Given the description of an element on the screen output the (x, y) to click on. 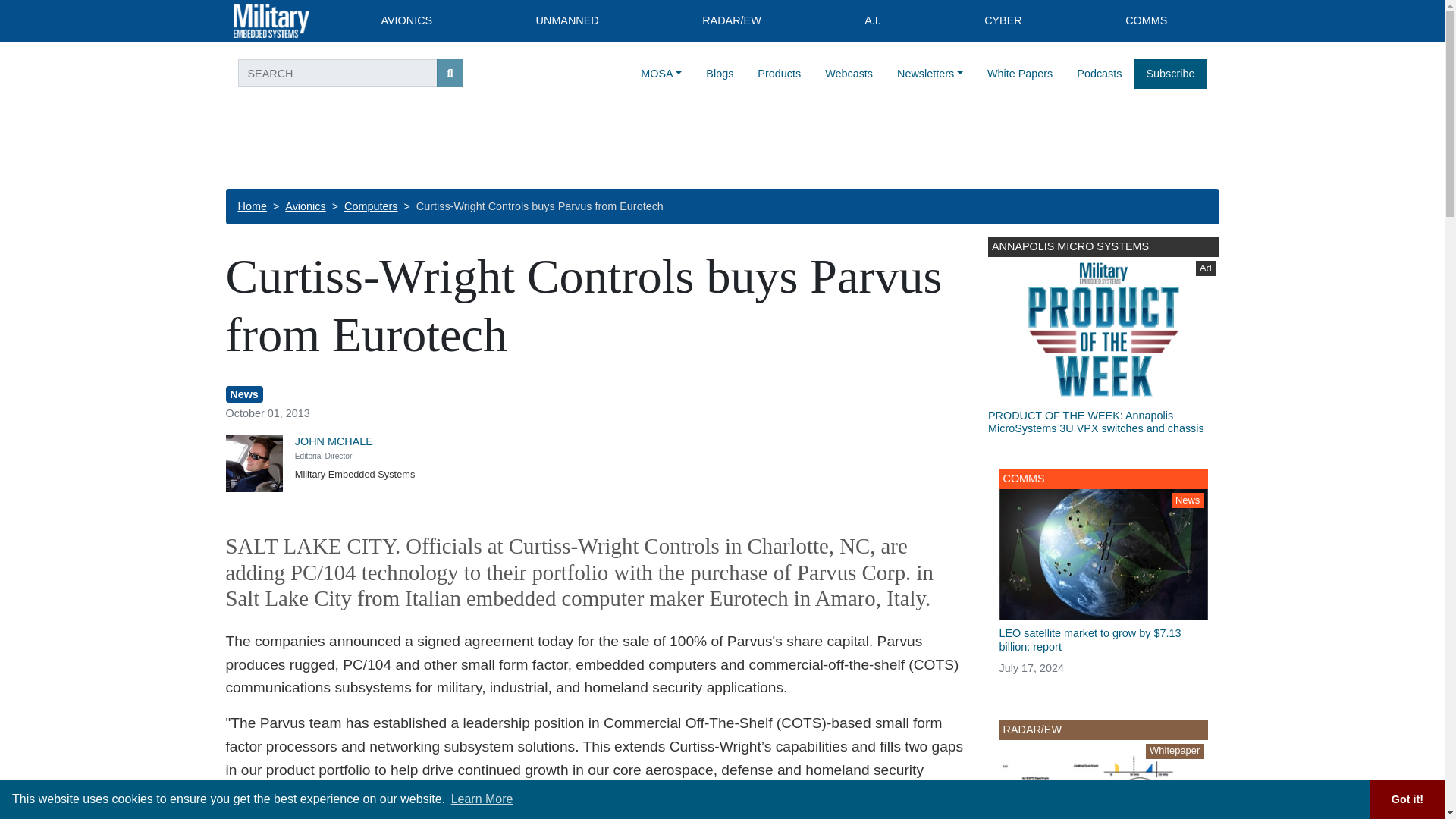
3rd party ad content (1102, 344)
CYBER (1003, 20)
UNMANNED (566, 20)
Learn More (481, 798)
A.I. (872, 20)
COMMS (1147, 20)
AVIONICS (406, 20)
3rd party ad content (721, 146)
